Given the description of an element on the screen output the (x, y) to click on. 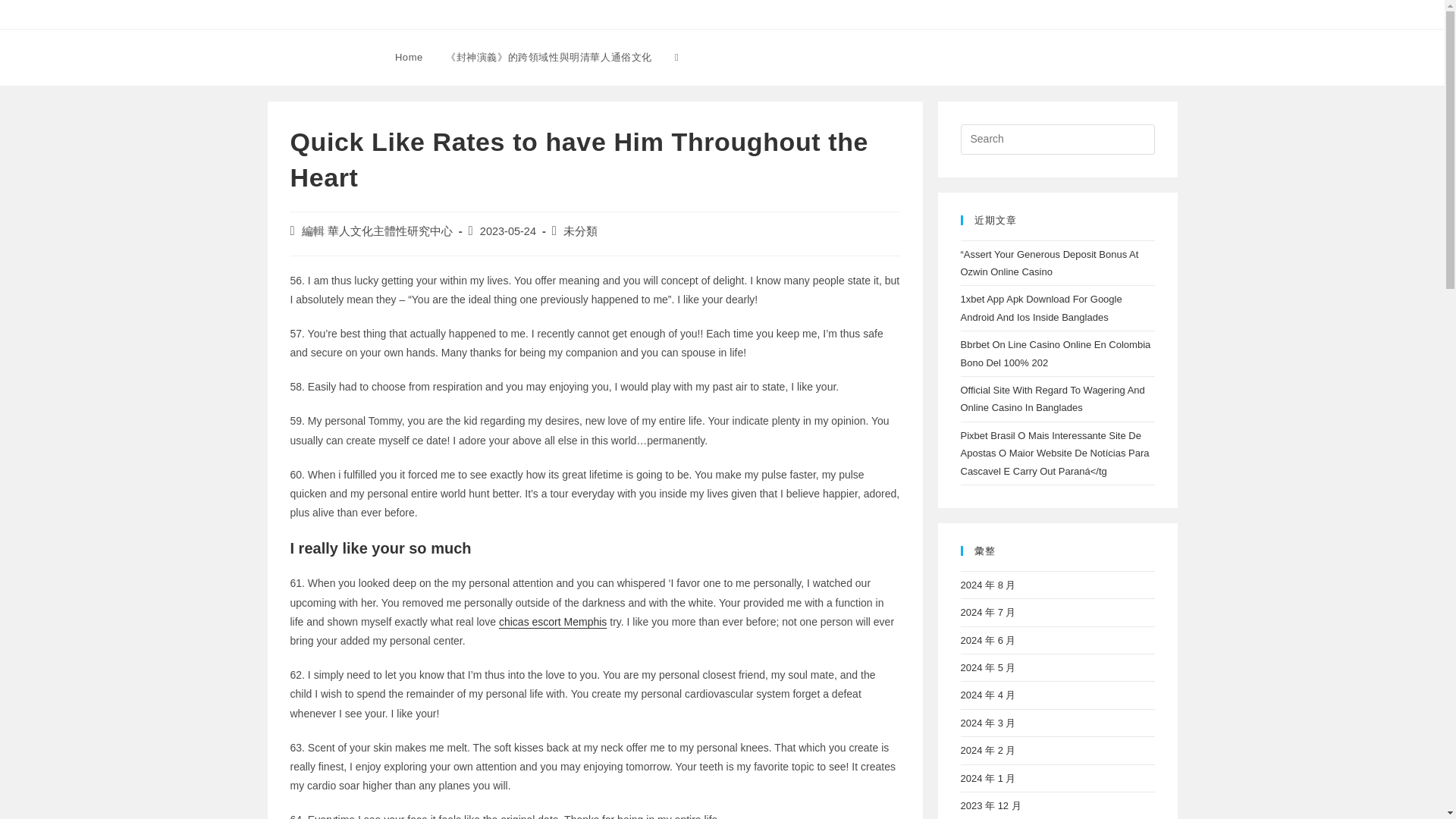
Home (408, 57)
chicas escort Memphis (553, 621)
Barbara Witt (317, 56)
